Given the description of an element on the screen output the (x, y) to click on. 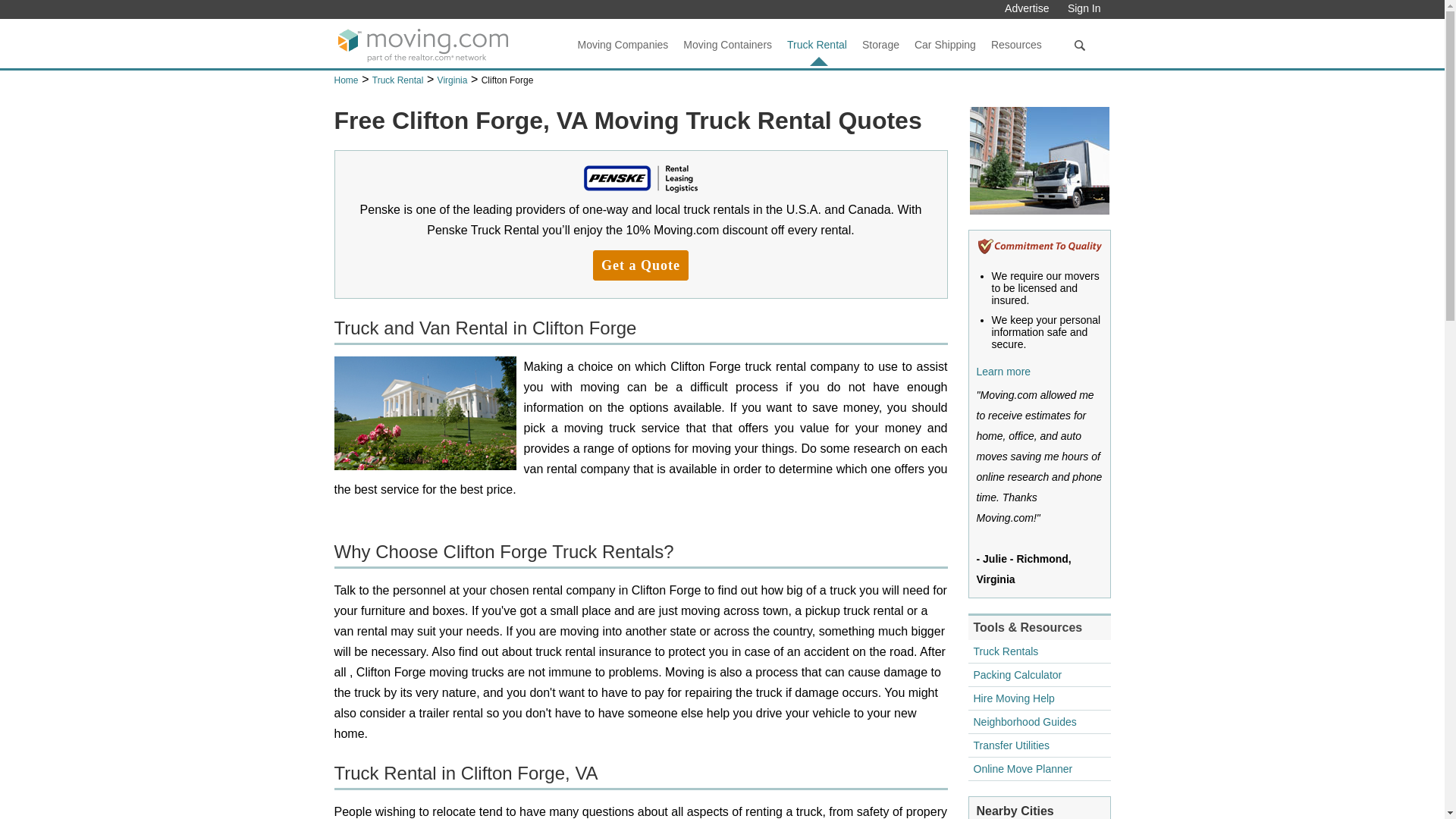
Moving Containers (726, 52)
Advertise (1027, 7)
Sign In (1088, 8)
Moving Companies (623, 52)
